Given the description of an element on the screen output the (x, y) to click on. 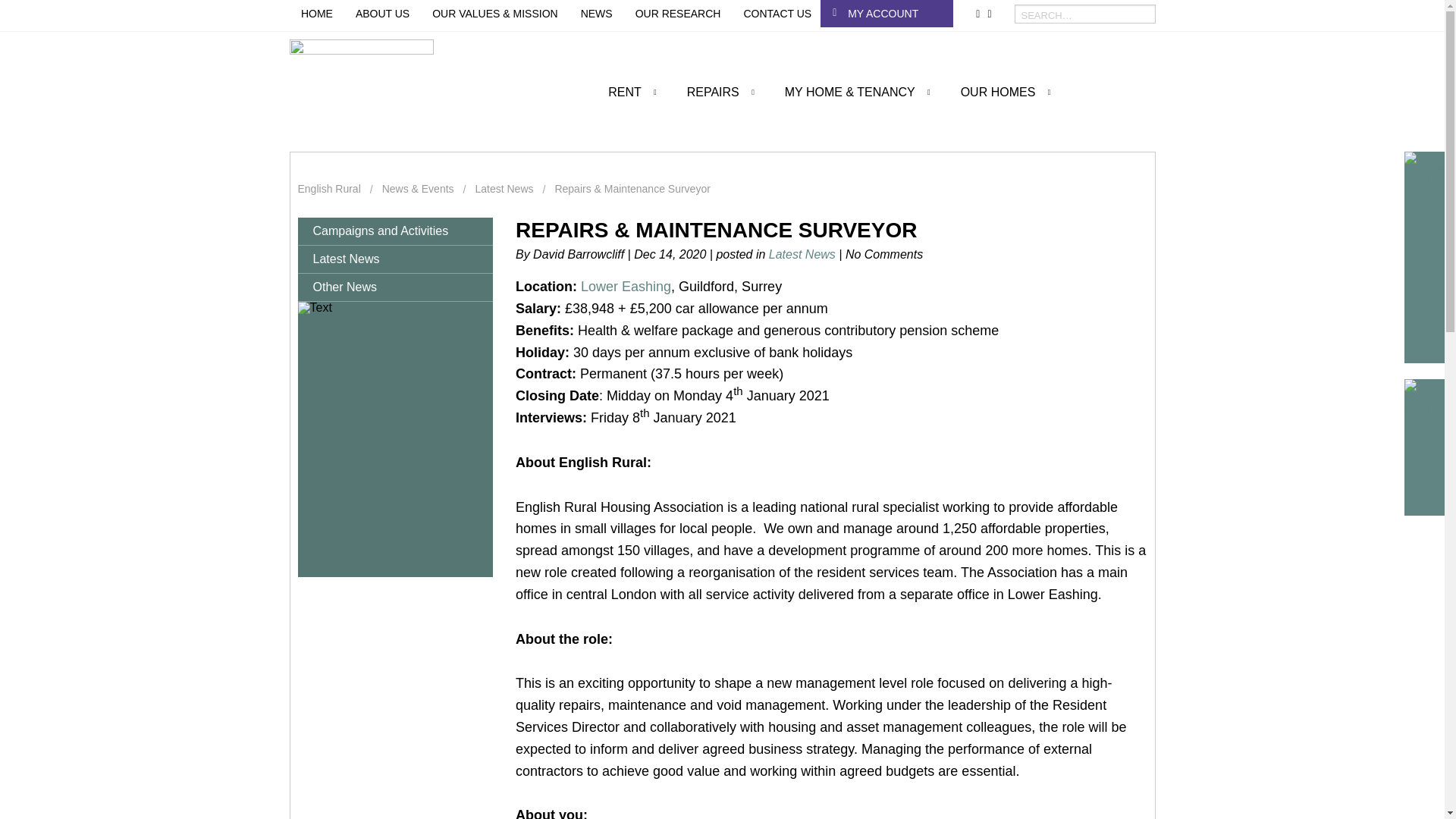
RENT (624, 110)
MY ACCOUNT (898, 13)
HOME (317, 13)
OUR RESEARCH (677, 13)
Go to the Latest News category archives. (503, 188)
NEWS (596, 13)
CONTACT US (776, 13)
OUR HOMES (997, 110)
ABOUT US (382, 13)
Go to English Rural. (328, 188)
REPAIRS (712, 110)
